Given the description of an element on the screen output the (x, y) to click on. 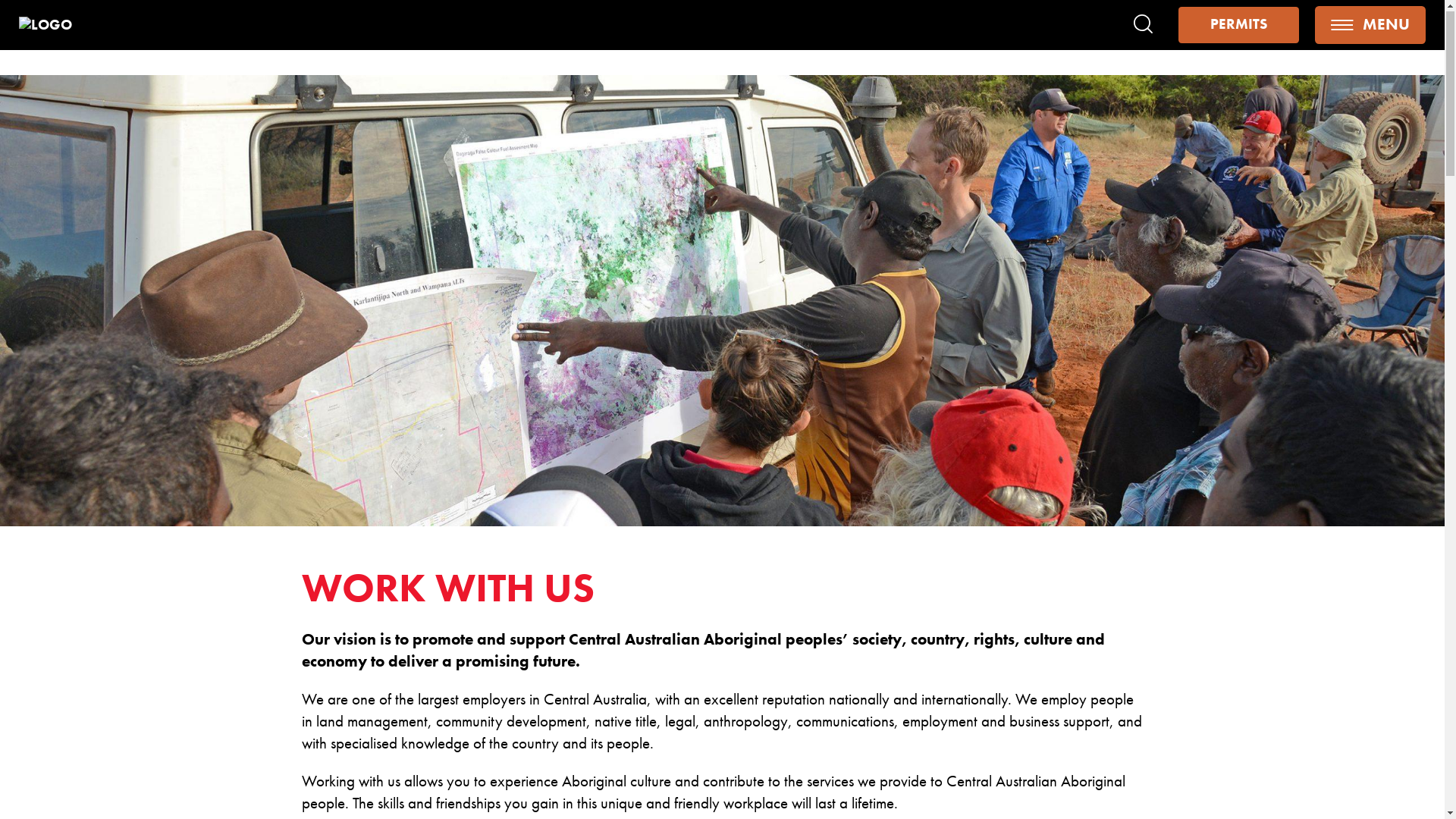
PERMITS Element type: text (1238, 25)
Search Element type: text (1143, 24)
MENU Element type: text (1369, 25)
Search for: Element type: hover (1137, 25)
